Given the description of an element on the screen output the (x, y) to click on. 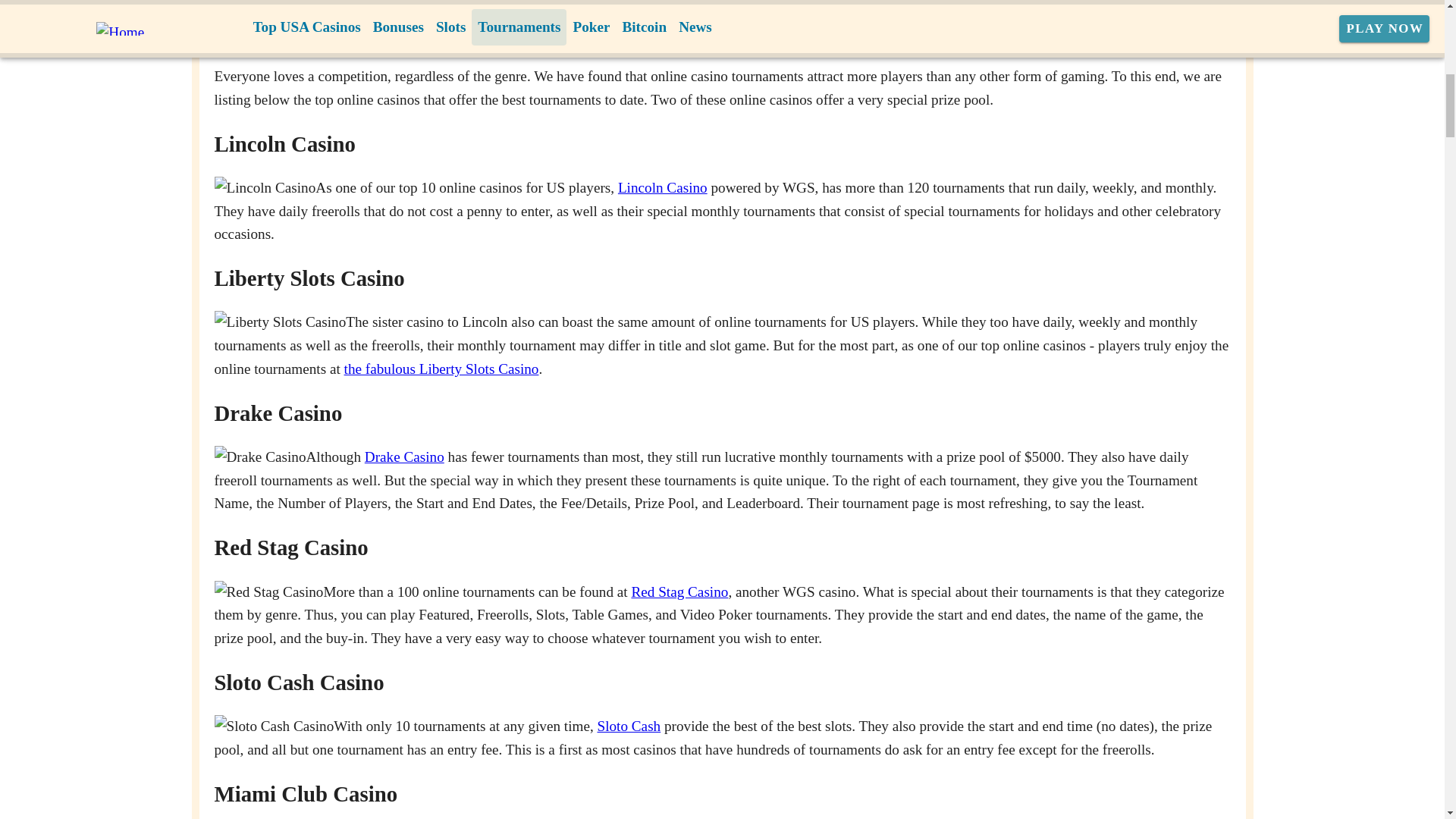
Lincoln Casino (662, 187)
the fabulous Liberty Slots Casino (440, 368)
Sloto Cash (628, 725)
Red Stag Casino (679, 591)
Drake Casino (404, 456)
